Given the description of an element on the screen output the (x, y) to click on. 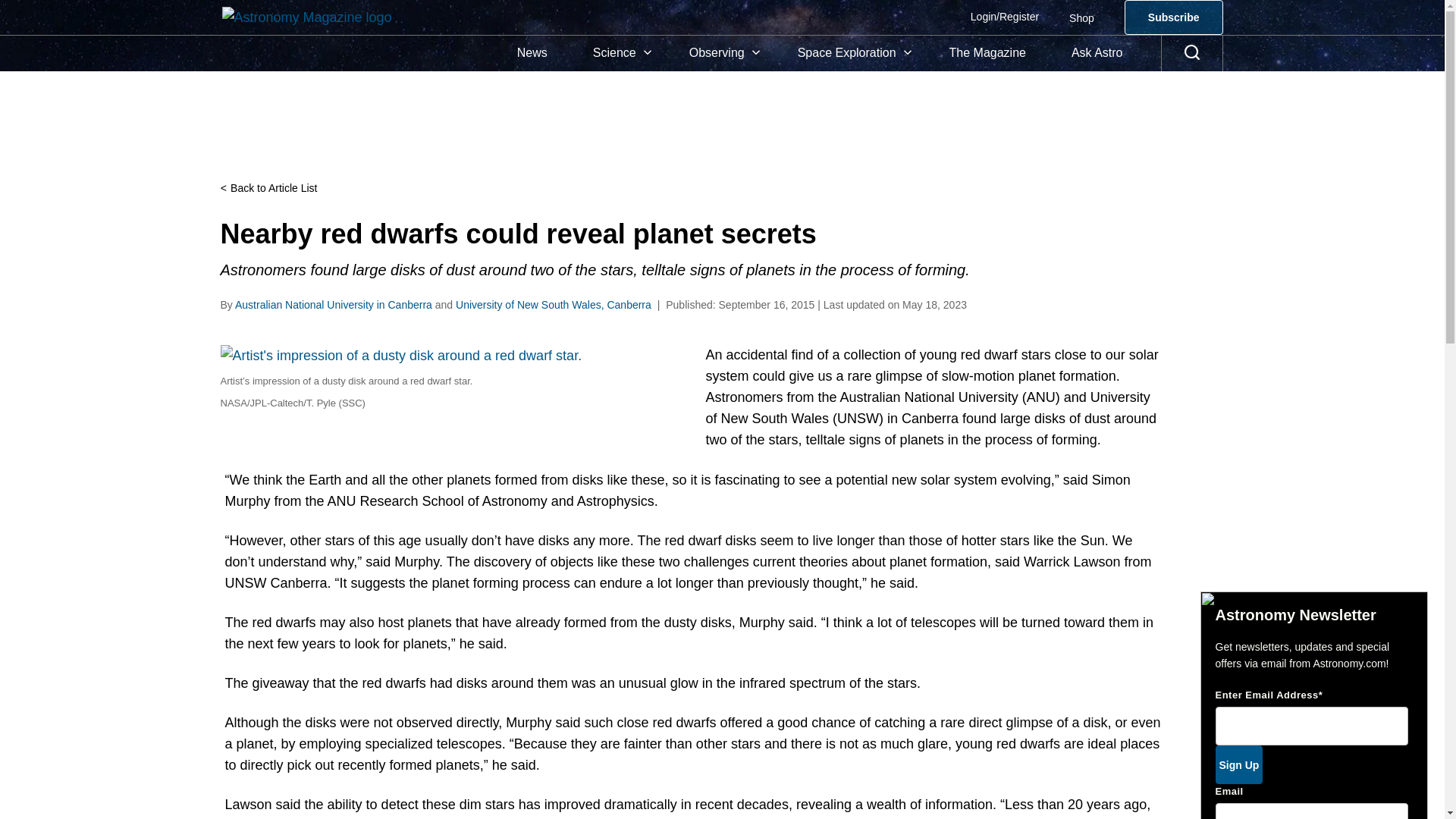
Search (1192, 53)
Subscribe (1173, 17)
The Magazine (987, 53)
Space Exploration (850, 53)
Ask Astro (1096, 53)
Posts by Australian National University in Canberra (333, 304)
Science (618, 53)
Sign Up (1238, 764)
News (532, 53)
Posts by University of New South Wales, Canberra (552, 304)
